Given the description of an element on the screen output the (x, y) to click on. 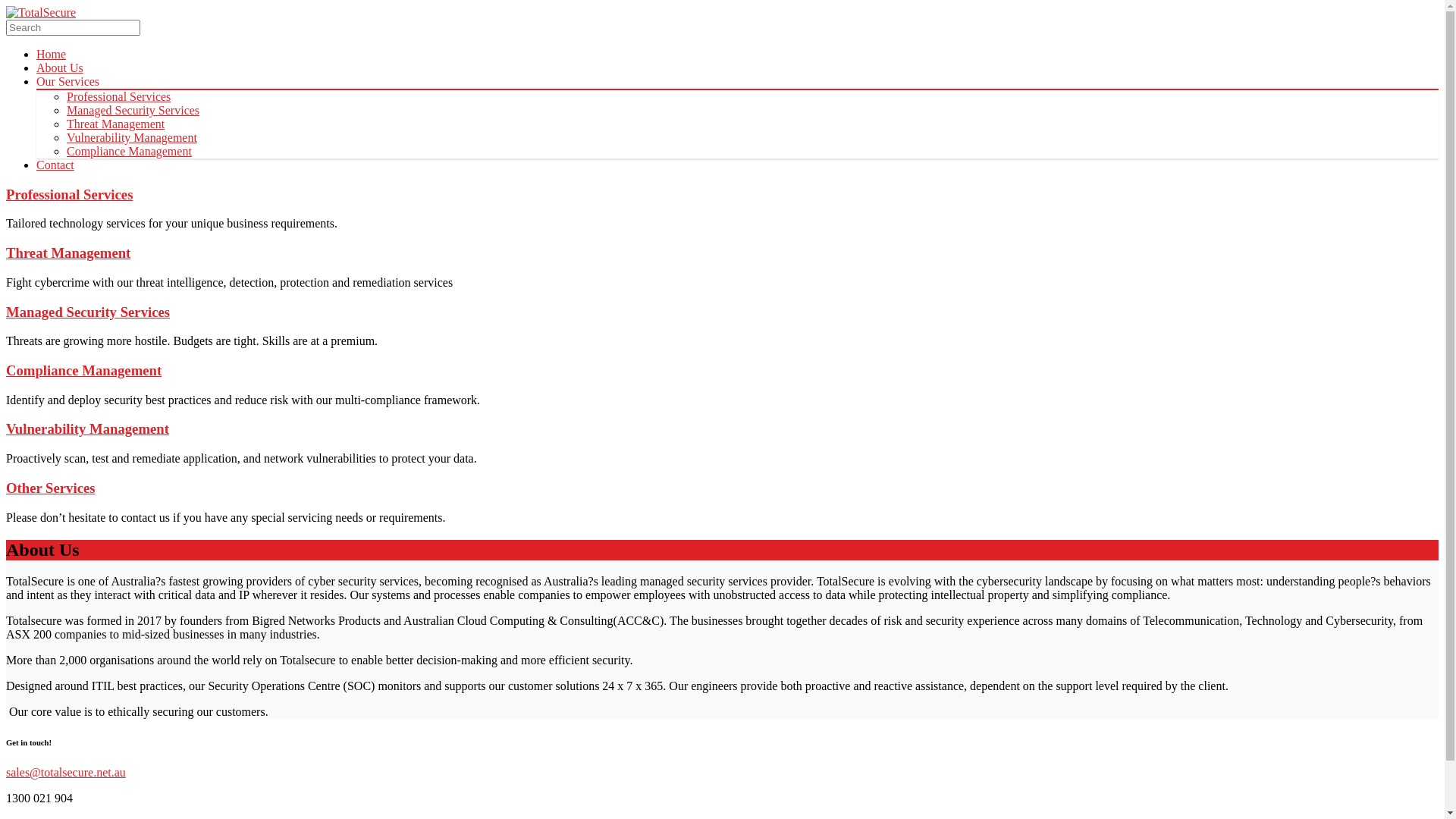
Managed Security Services Element type: text (722, 312)
About Us Element type: text (59, 67)
Threat Management Element type: text (115, 123)
Professional Services Element type: text (722, 194)
Managed Security Services Element type: text (132, 109)
sales@totalsecure.net.au Element type: text (65, 771)
Other Services Element type: text (722, 488)
Professional Services Element type: text (118, 96)
Our Services Element type: text (67, 81)
Contact Element type: text (55, 164)
Vulnerability Management Element type: text (131, 137)
Compliance Management Element type: text (722, 370)
Home Element type: text (50, 53)
Compliance Management Element type: text (128, 150)
Threat Management Element type: text (722, 252)
Vulnerability Management Element type: text (722, 428)
